Given the description of an element on the screen output the (x, y) to click on. 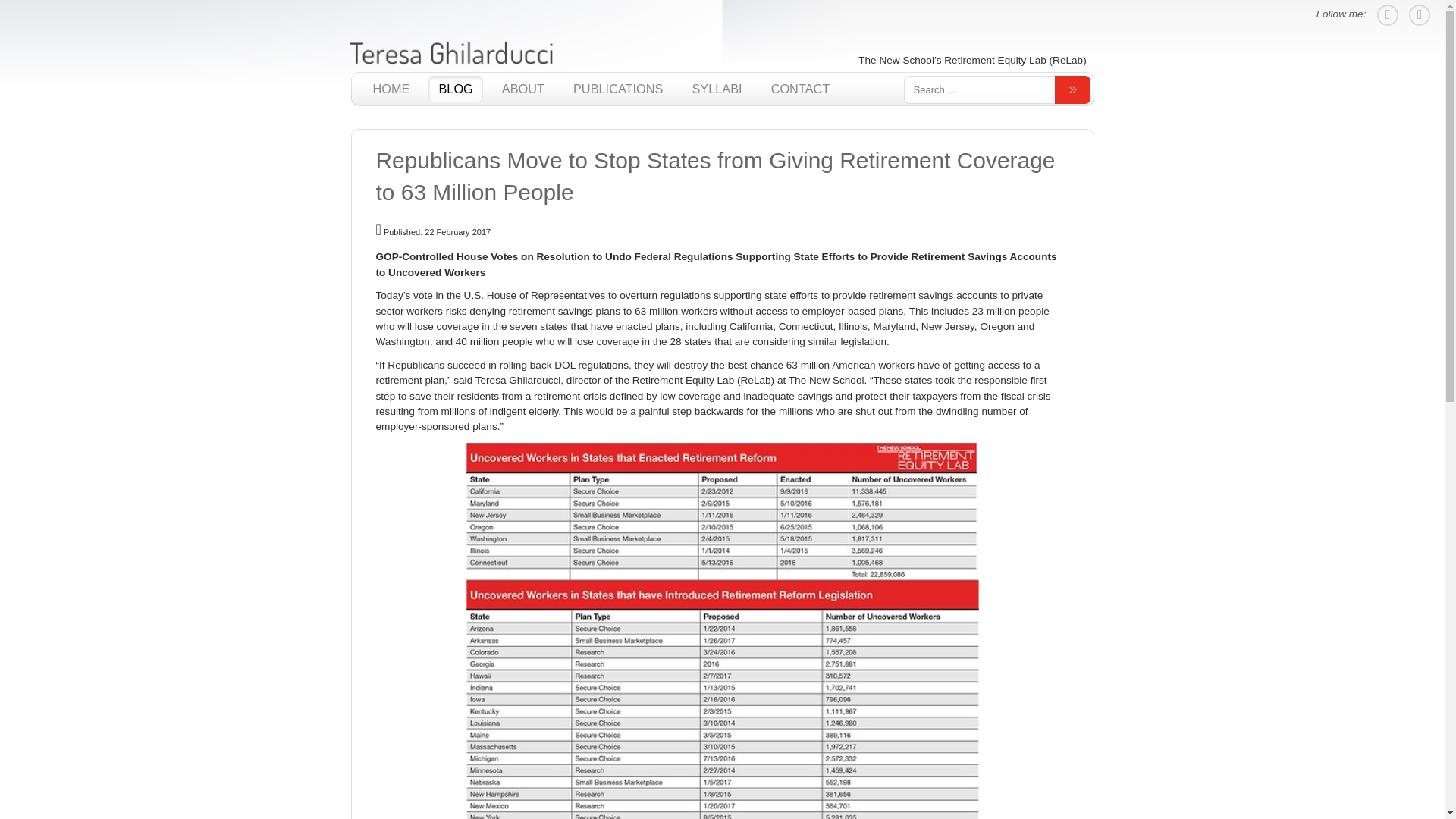
BLOG (454, 88)
Facebook (1419, 14)
HOME (390, 88)
ABOUT (523, 88)
Twitter (1387, 14)
SYLLABI (716, 88)
CONTACT (800, 88)
PUBLICATIONS (617, 88)
